Given the description of an element on the screen output the (x, y) to click on. 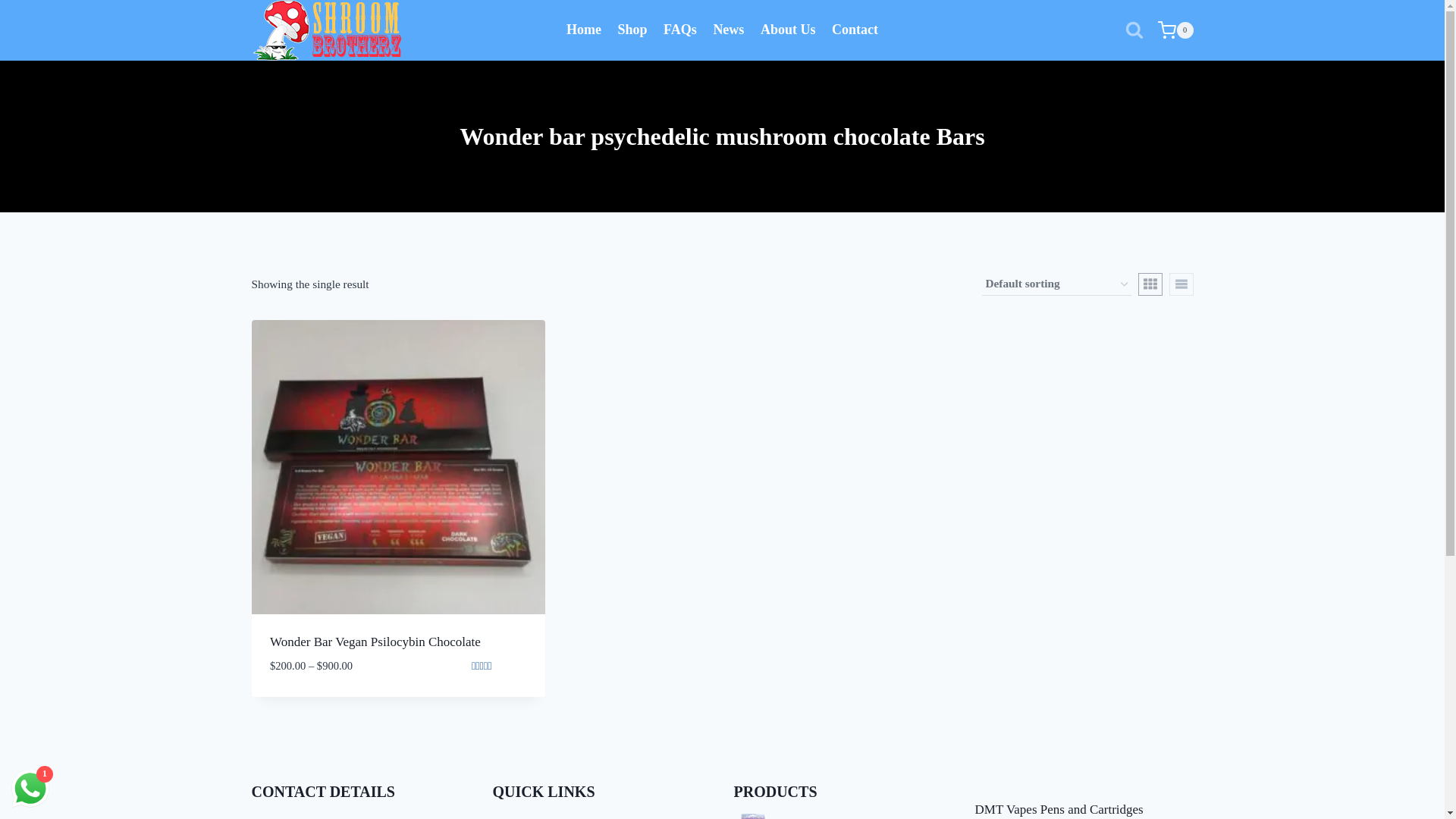
WhatsApp us (30, 788)
FAQs (679, 30)
0 (1175, 29)
Grid View (1149, 283)
Home (583, 30)
List View (1181, 283)
Shop (633, 30)
Wonder Bar Vegan Psilocybin Chocolate (374, 641)
Zoomies Gummies (842, 816)
Contact (855, 30)
